Given the description of an element on the screen output the (x, y) to click on. 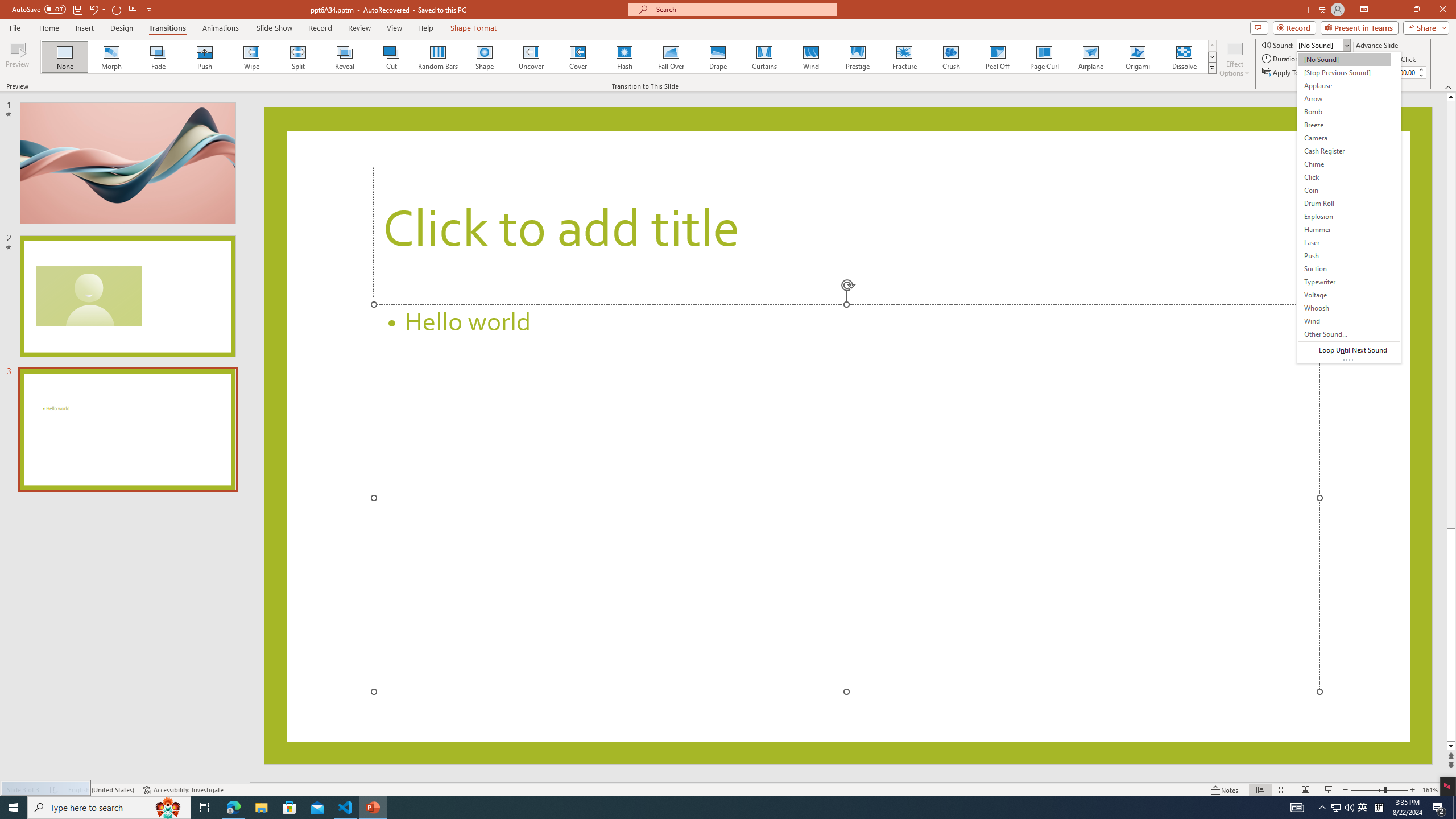
Drape (717, 56)
